Given the description of an element on the screen output the (x, y) to click on. 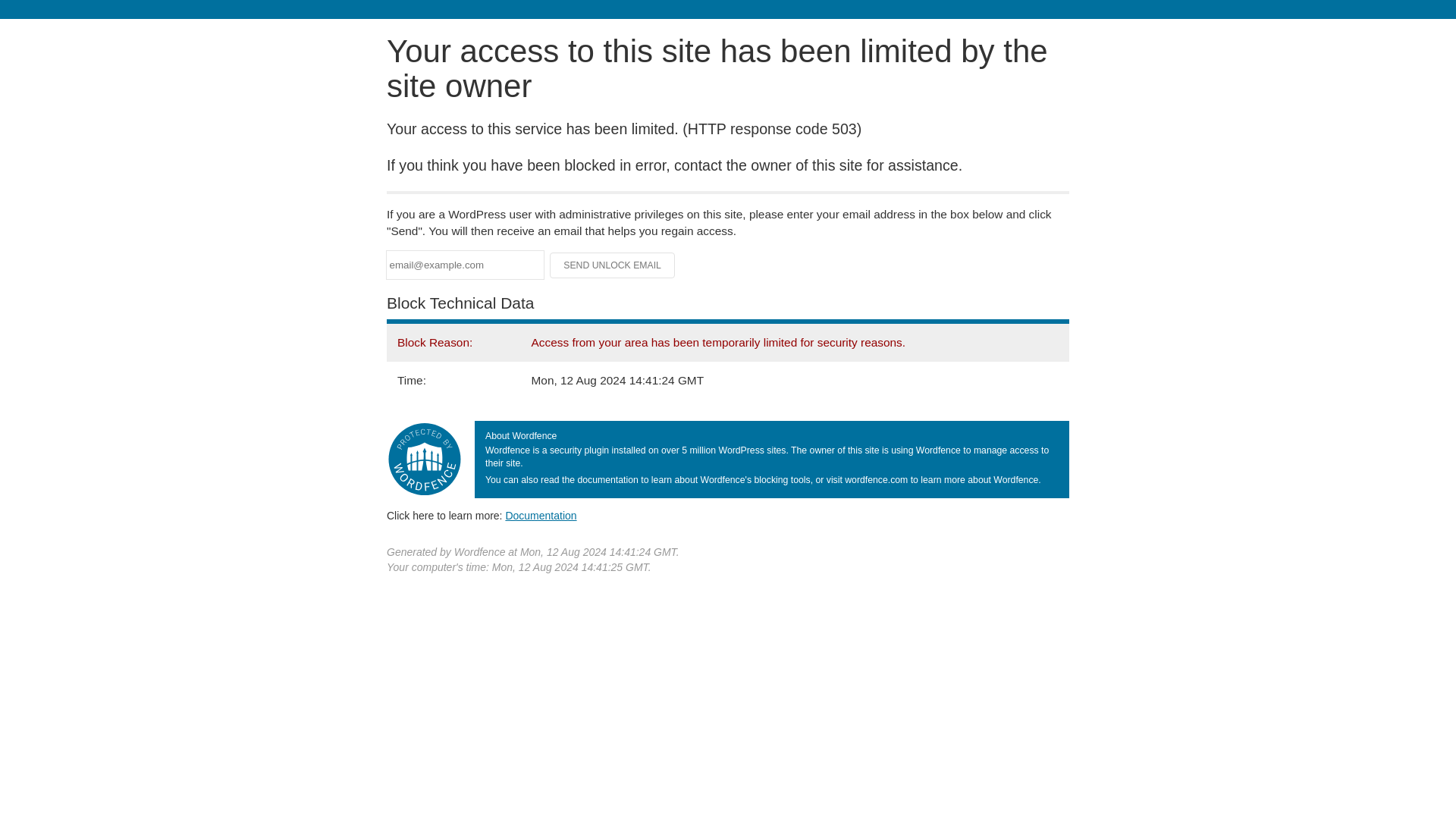
Documentation (540, 515)
Send Unlock Email (612, 265)
Send Unlock Email (612, 265)
